Given the description of an element on the screen output the (x, y) to click on. 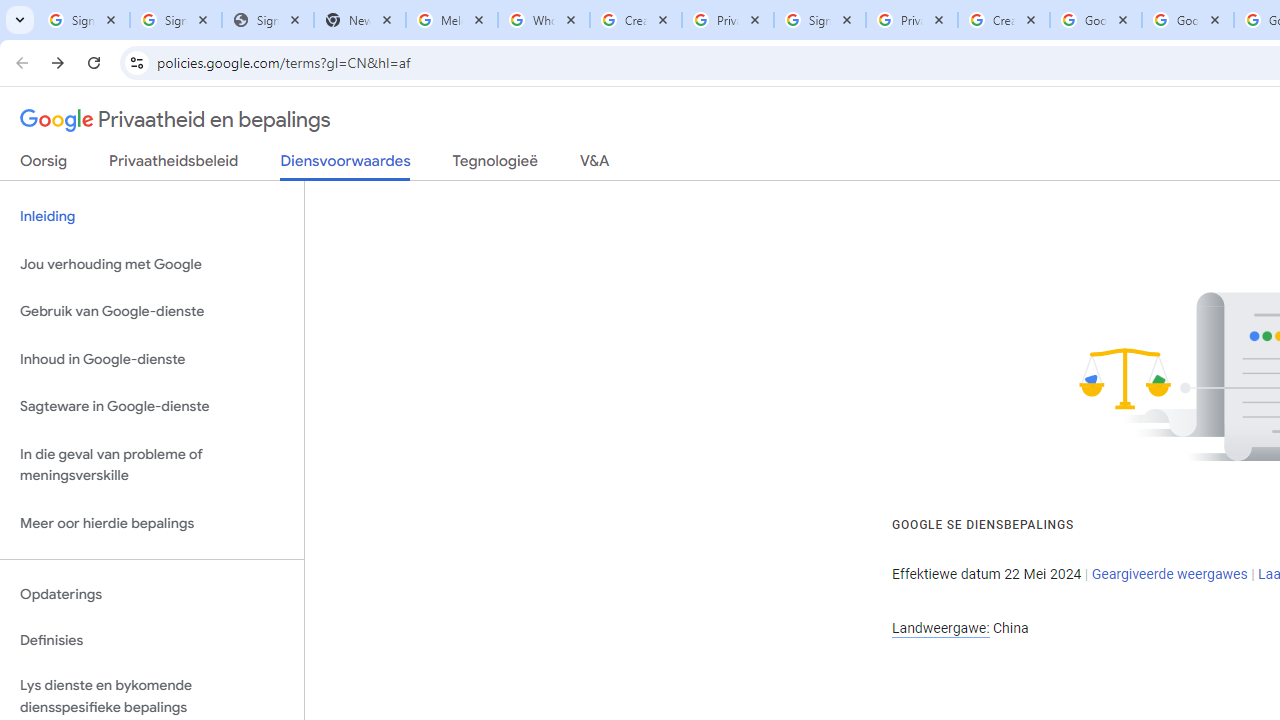
Geargiveerde weergawes (1169, 574)
Jou verhouding met Google (152, 263)
Sign in - Google Accounts (83, 20)
In die geval van probleme of meningsverskille (152, 464)
Sign in - Google Accounts (175, 20)
